Given the description of an element on the screen output the (x, y) to click on. 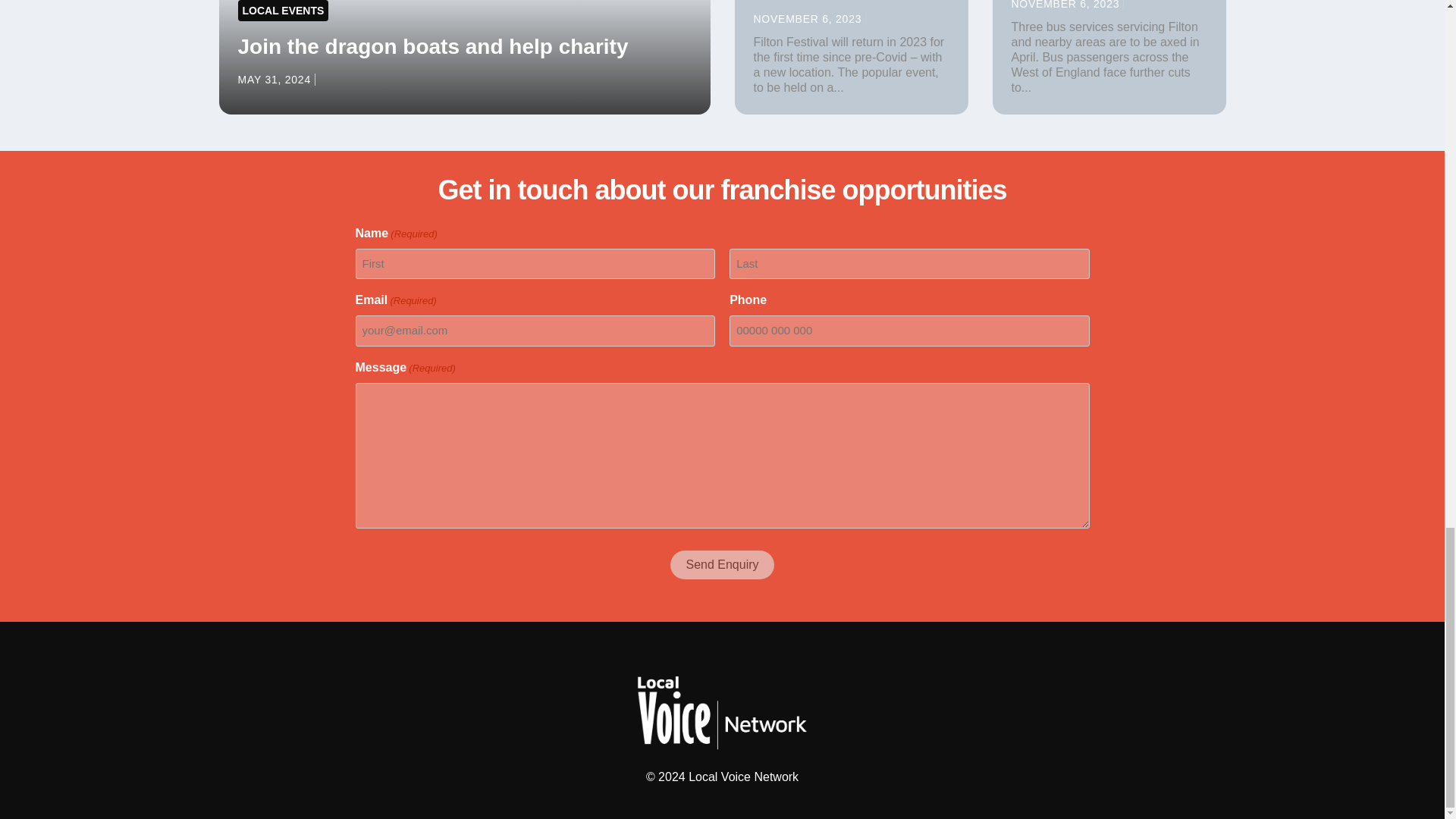
Send Enquiry (721, 564)
Send Enquiry (721, 564)
